Given the description of an element on the screen output the (x, y) to click on. 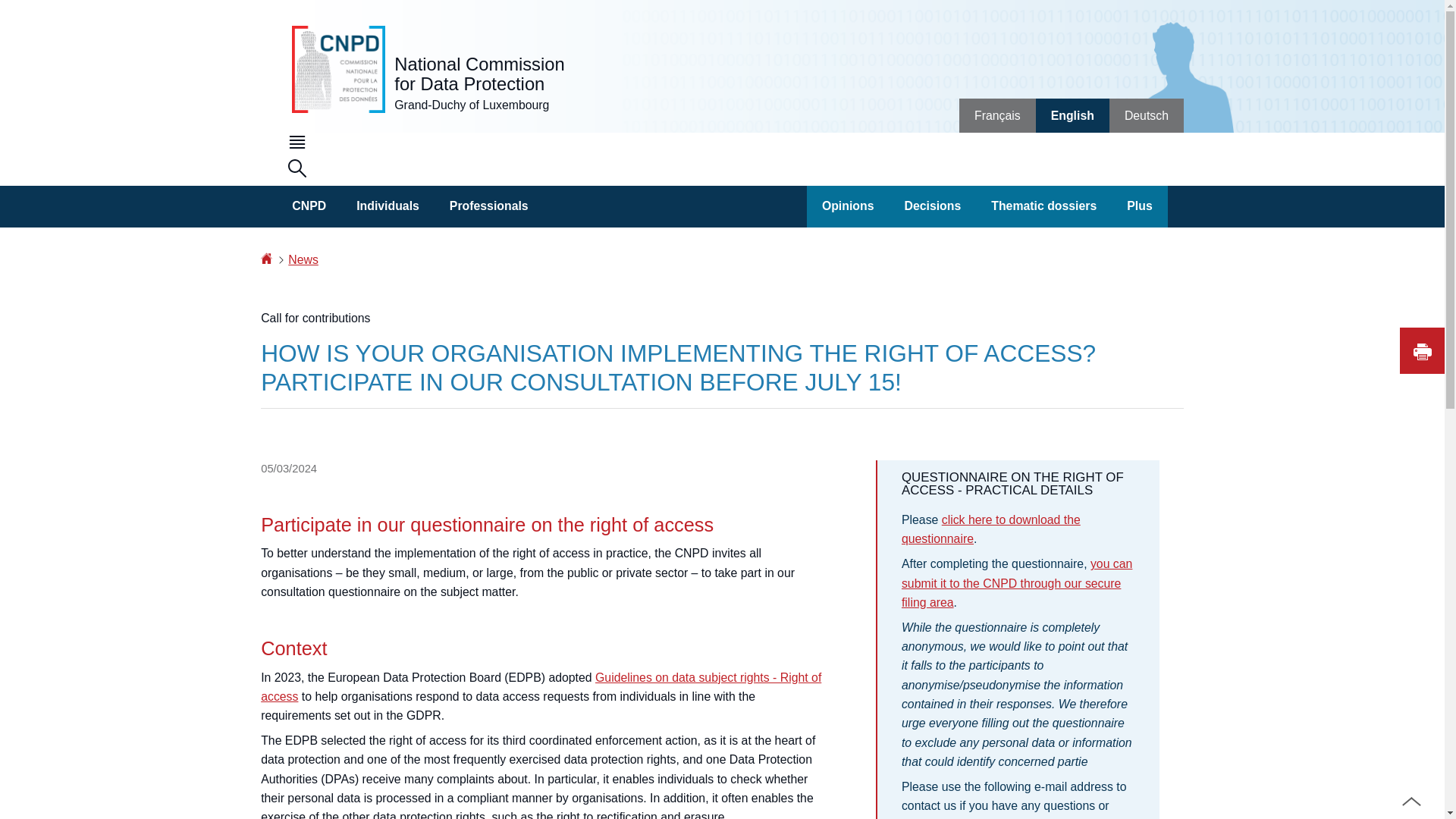
click here to download the questionnaire (990, 529)
Menu (296, 144)
Individuals (386, 206)
Thematic dossiers (1043, 206)
Decisions (931, 206)
Deutsch (1146, 115)
Guidelines on data subject rights - Right of access (540, 686)
you can submit it to the CNPD through our secure filing area (1016, 583)
Opinions (847, 206)
